Given the description of an element on the screen output the (x, y) to click on. 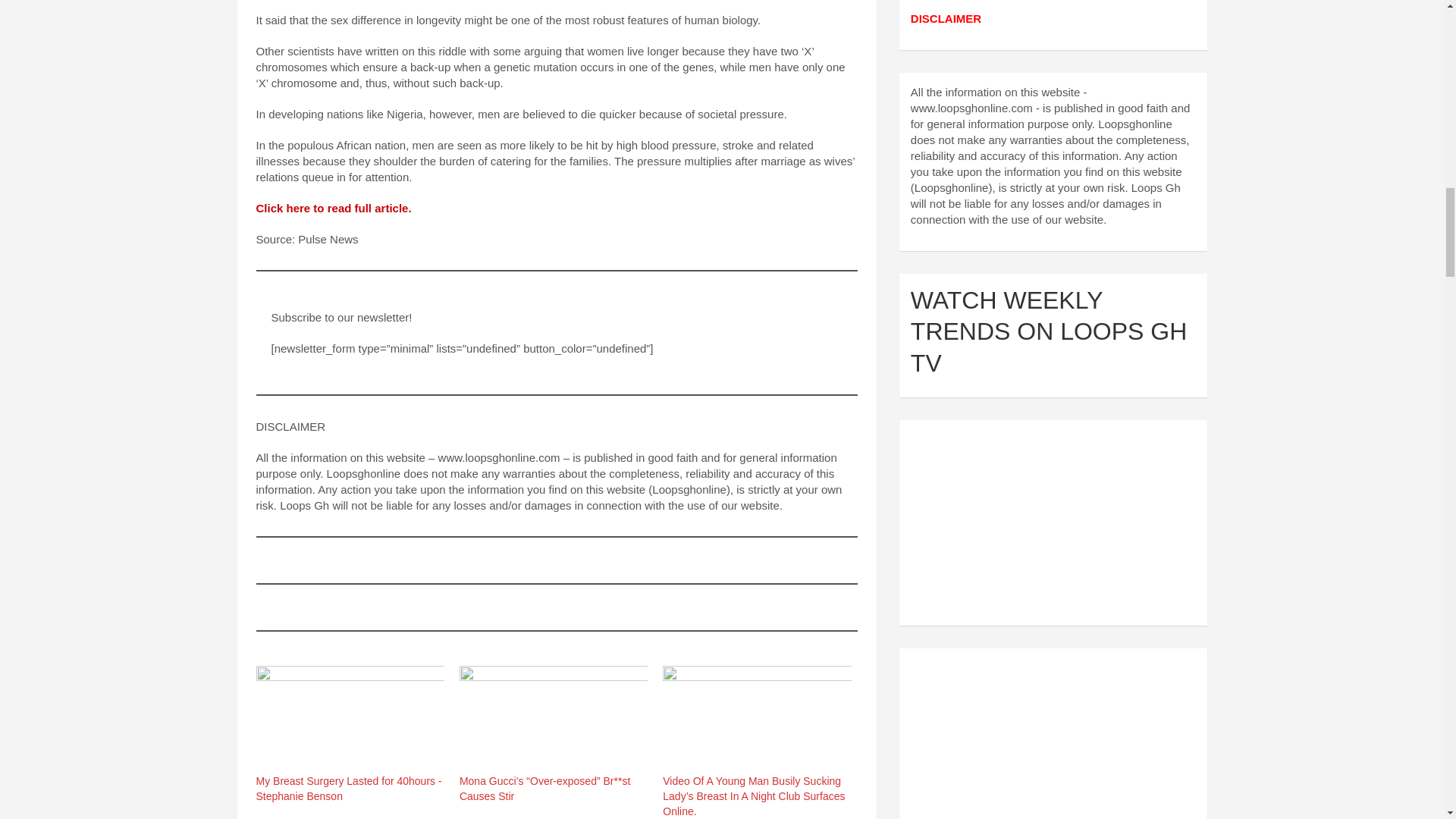
My Breast Surgery Lasted for 40hours -Stephanie Benson (349, 788)
My Breast Surgery Lasted for 40hours -Stephanie Benson (350, 719)
